Given the description of an element on the screen output the (x, y) to click on. 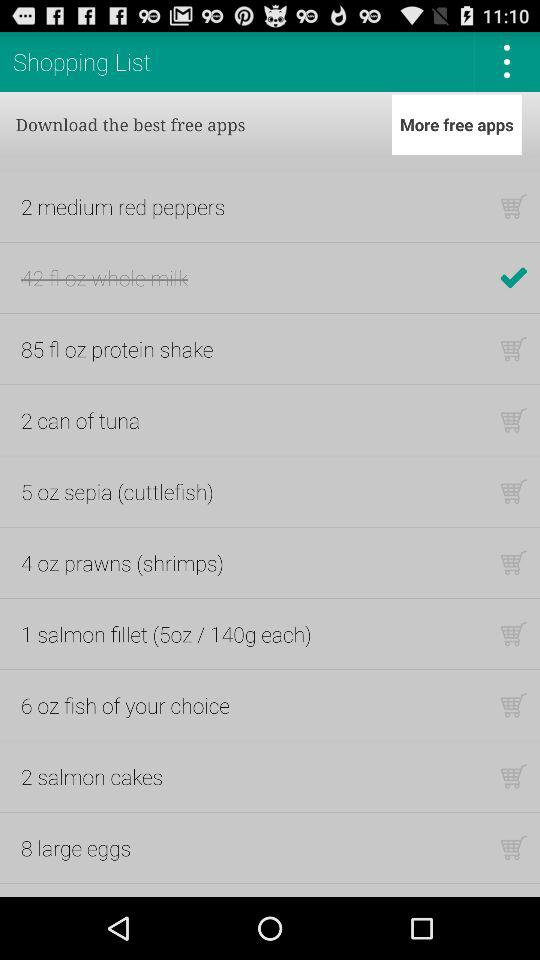
choose the item below the 2 salmon cakes (76, 847)
